Given the description of an element on the screen output the (x, y) to click on. 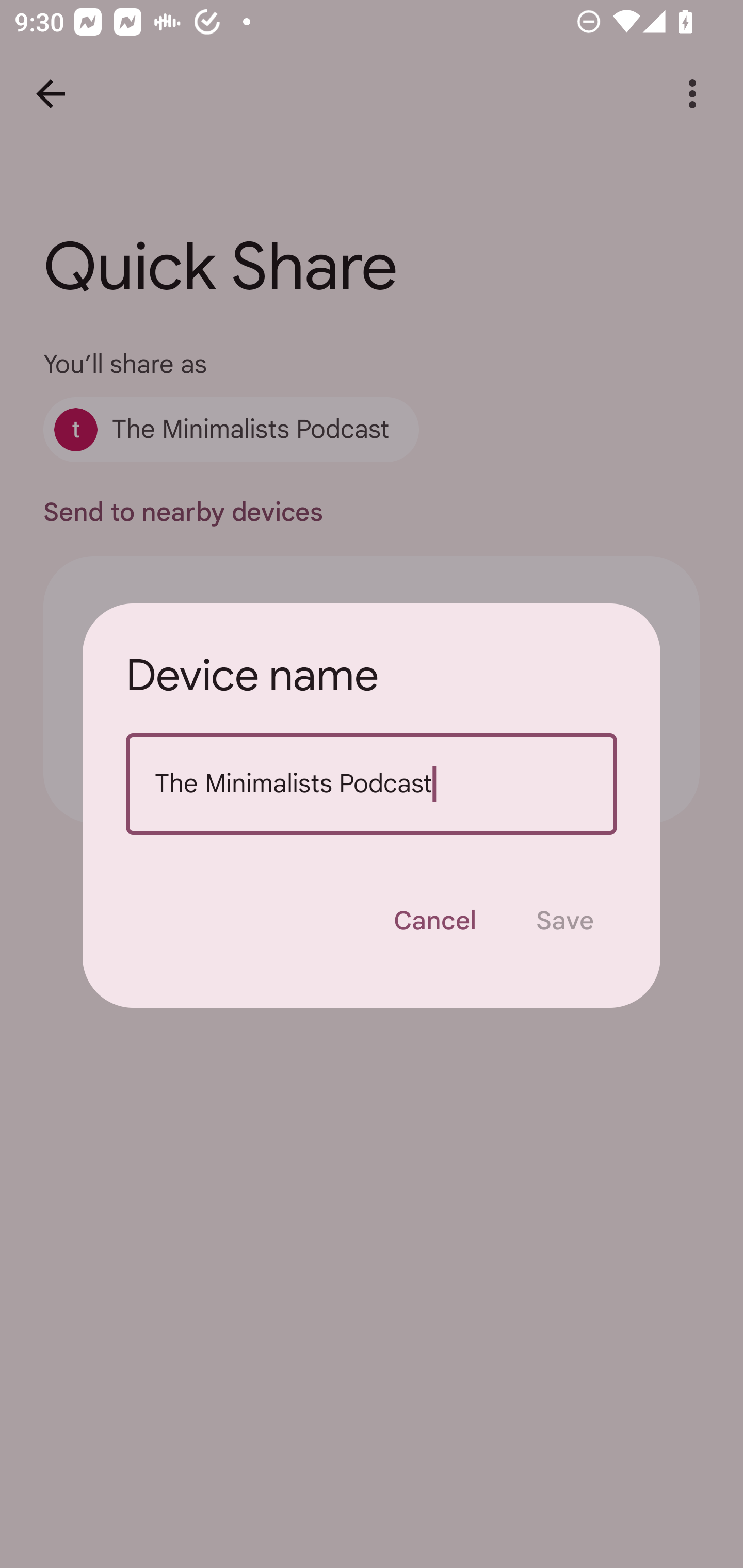
The Minimalists Podcast Device name (371, 783)
Cancel (434, 921)
Save (564, 921)
